Given the description of an element on the screen output the (x, y) to click on. 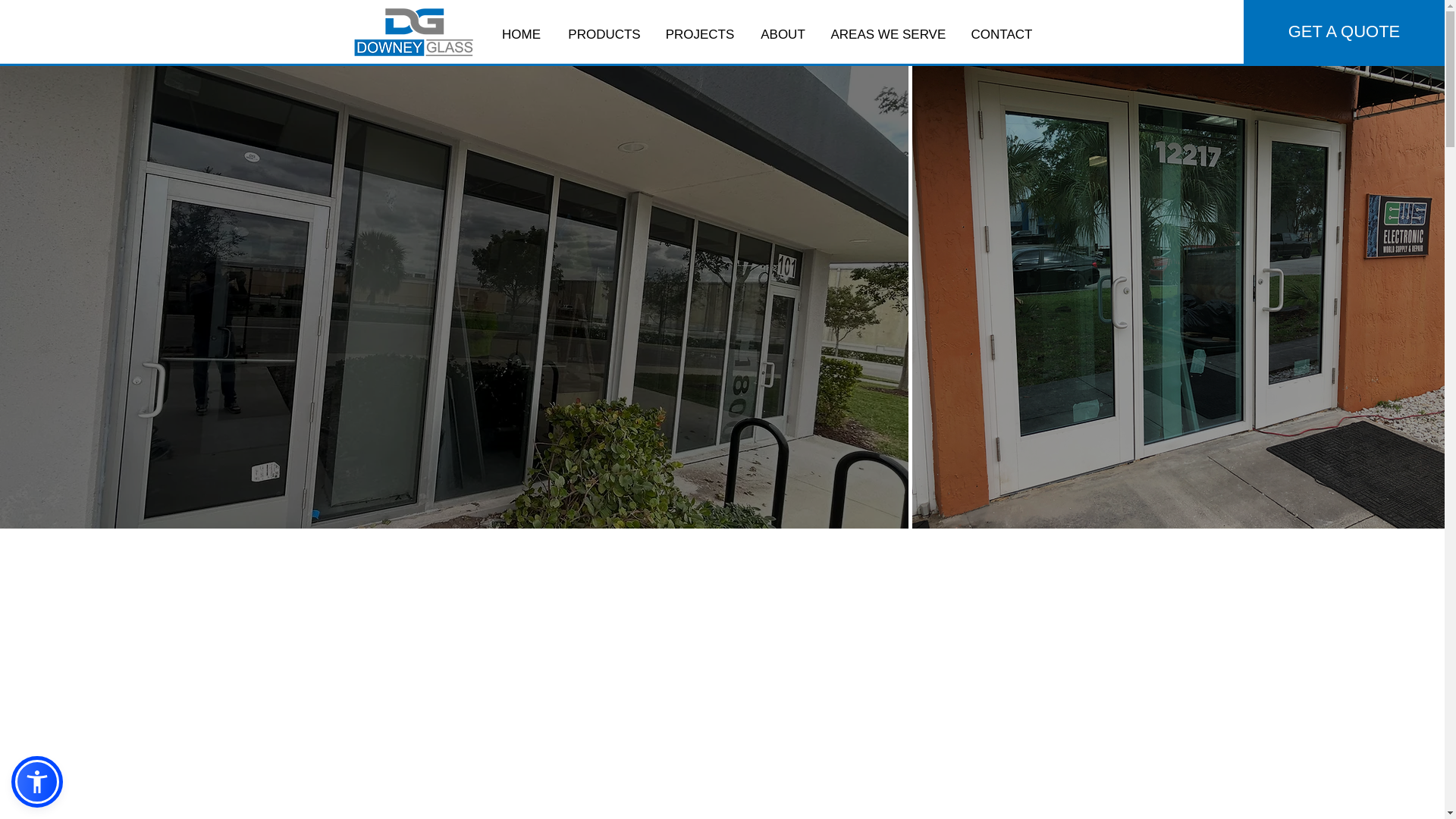
CONTACT (1001, 34)
HOME (520, 34)
PROJECTS (699, 34)
ABOUT (781, 34)
Open Accessibility Menu (36, 781)
